Given the description of an element on the screen output the (x, y) to click on. 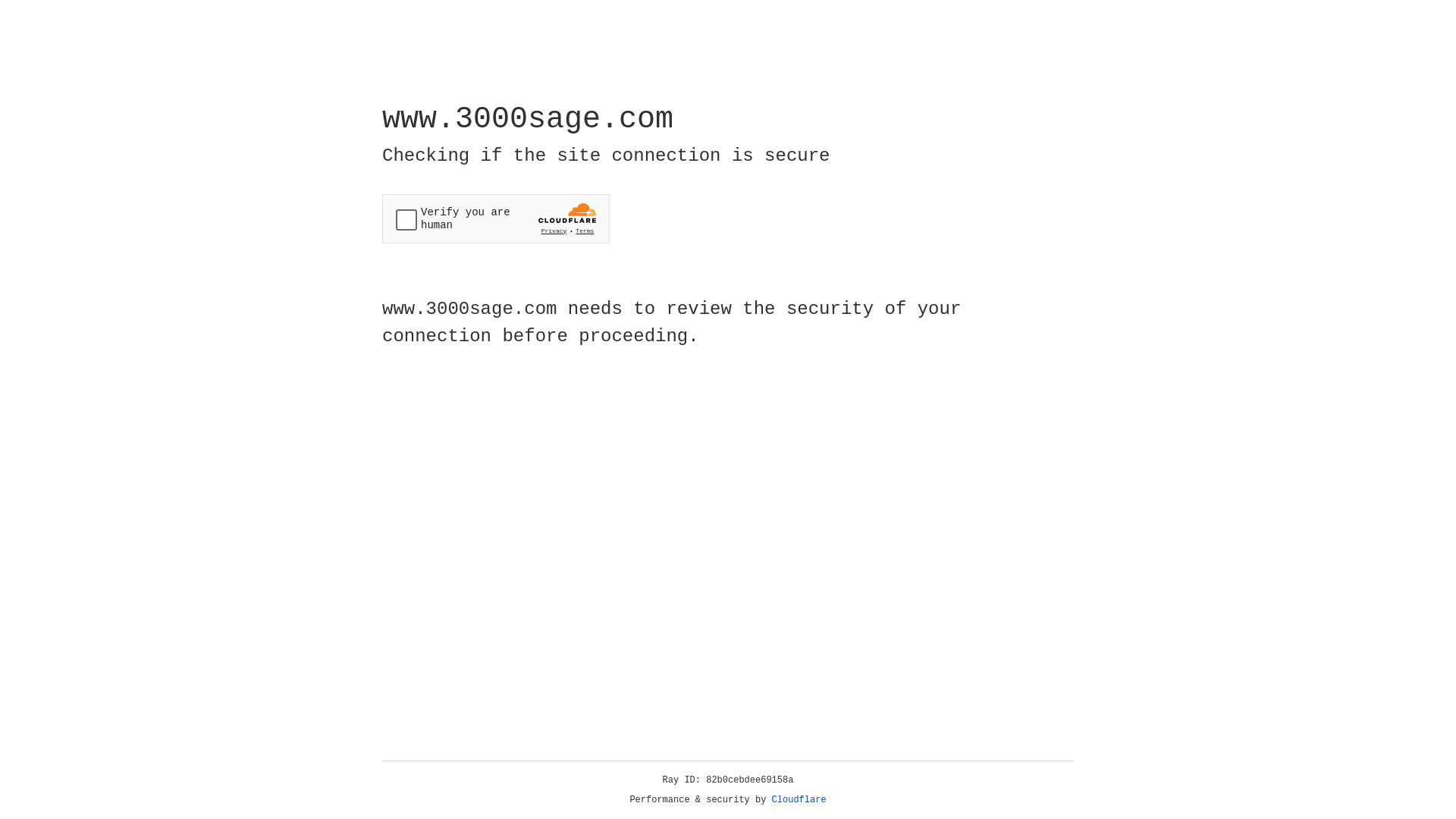
Widget containing a Cloudflare security challenge Element type: hover (495, 218)
Cloudflare Element type: text (798, 799)
